Given the description of an element on the screen output the (x, y) to click on. 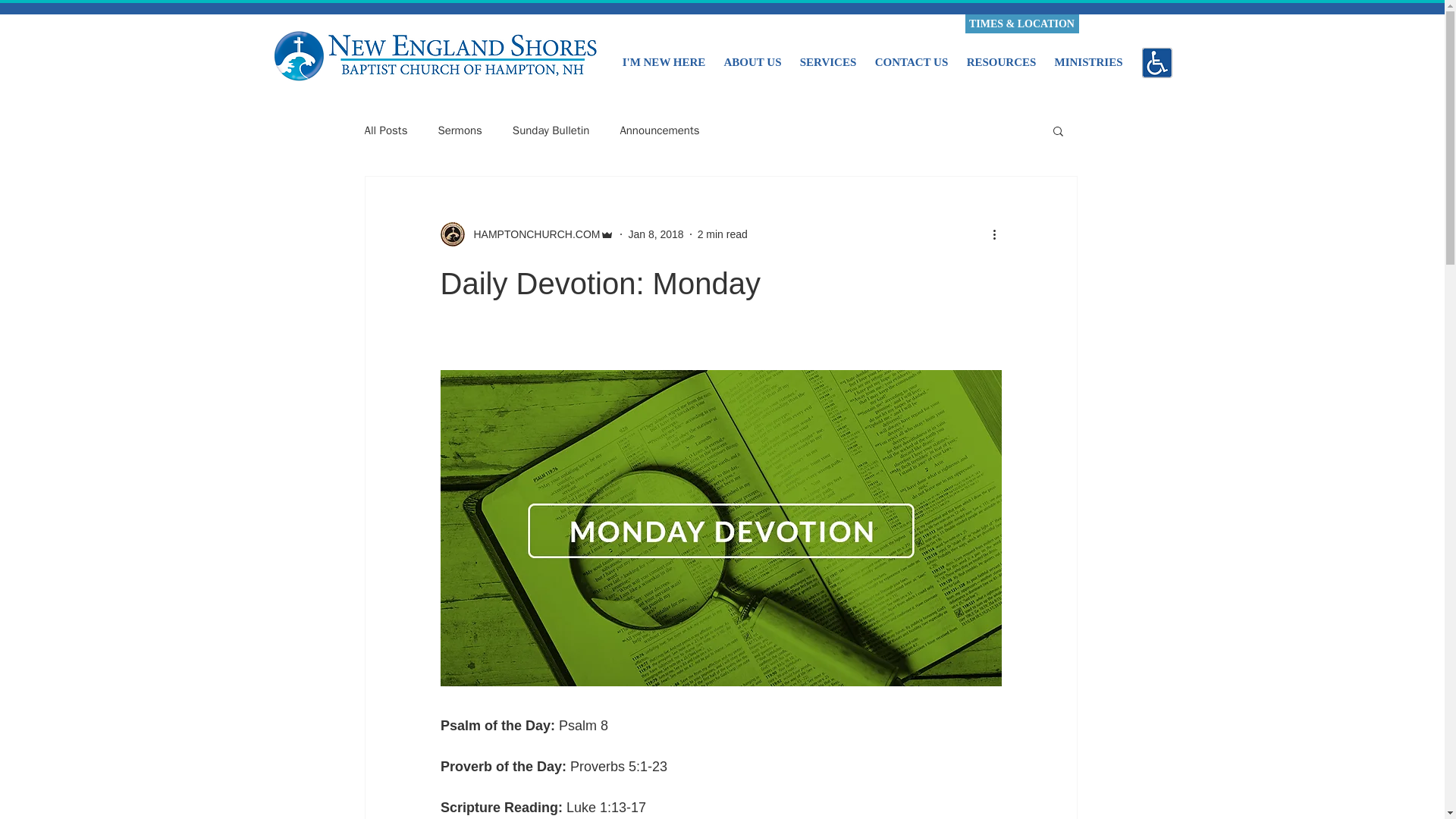
Jan 8, 2018 (654, 233)
2 min read (722, 233)
All Posts (385, 129)
Sunday Bulletin (550, 129)
Announcements (659, 129)
HAMPTONCHURCH.COM (531, 233)
I'M NEW HERE (663, 54)
SERVICES (827, 54)
CONTACT US (912, 54)
HAMPTONCHURCH.COM (526, 233)
